Given the description of an element on the screen output the (x, y) to click on. 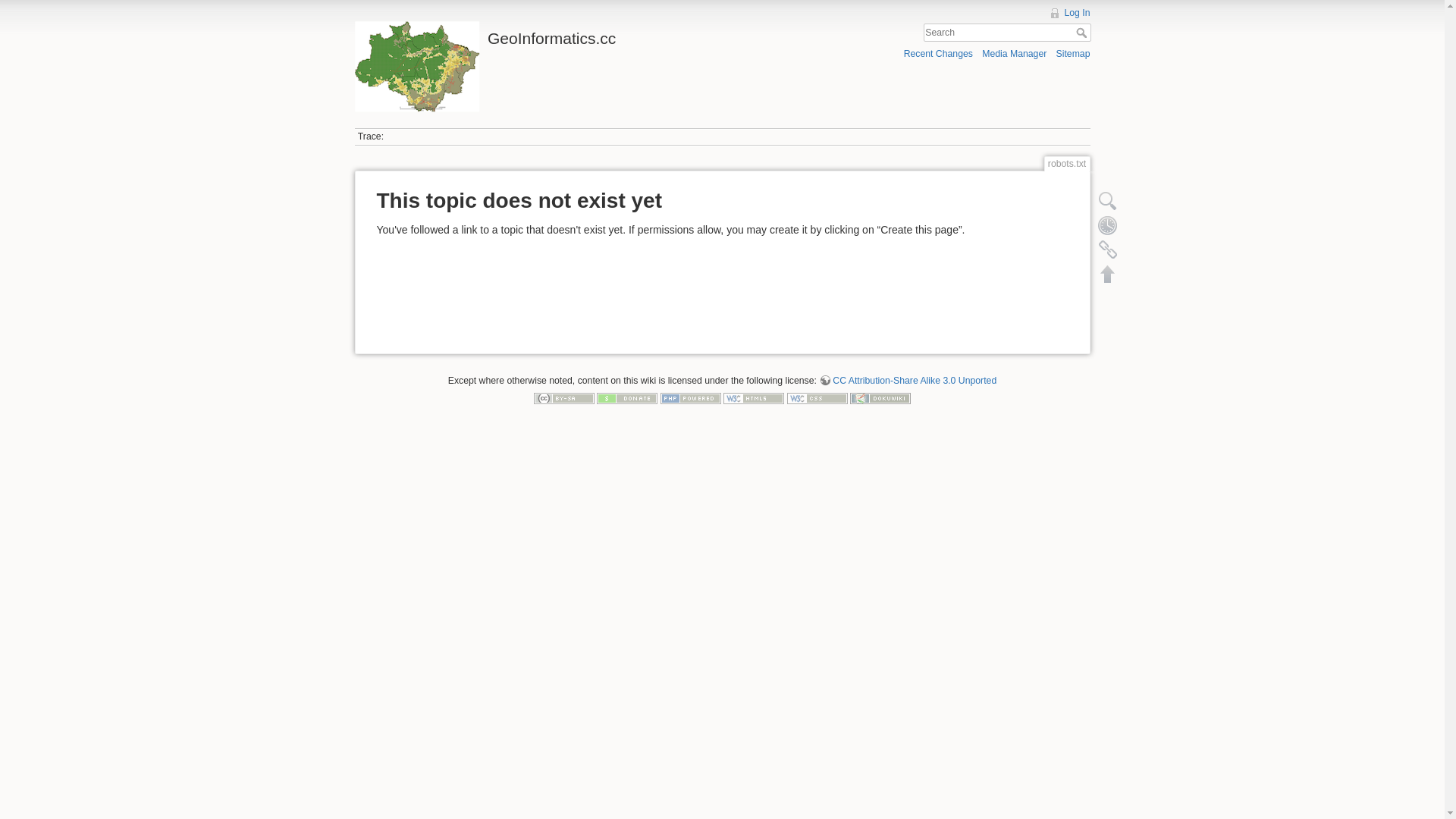
Recent Changes Element type: text (937, 53)
Sitemap Element type: text (1073, 53)
[F] Element type: hover (1007, 32)
GeoInformatics.cc Element type: text (534, 34)
Back to top [T] Element type: hover (1107, 273)
Search Element type: text (1082, 32)
Old revisions [O] Element type: hover (1107, 225)
Valid HTML5 Element type: hover (753, 397)
Log In Element type: text (1068, 12)
Donate Element type: hover (626, 397)
Media Manager Element type: text (1014, 53)
Valid CSS Element type: hover (817, 397)
Show pagesource [V] Element type: hover (1107, 200)
CC Attribution-Share Alike 3.0 Unported Element type: text (907, 380)
Driven by DokuWiki Element type: hover (880, 397)
Backlinks Element type: hover (1107, 249)
Powered by PHP Element type: hover (690, 397)
